Given the description of an element on the screen output the (x, y) to click on. 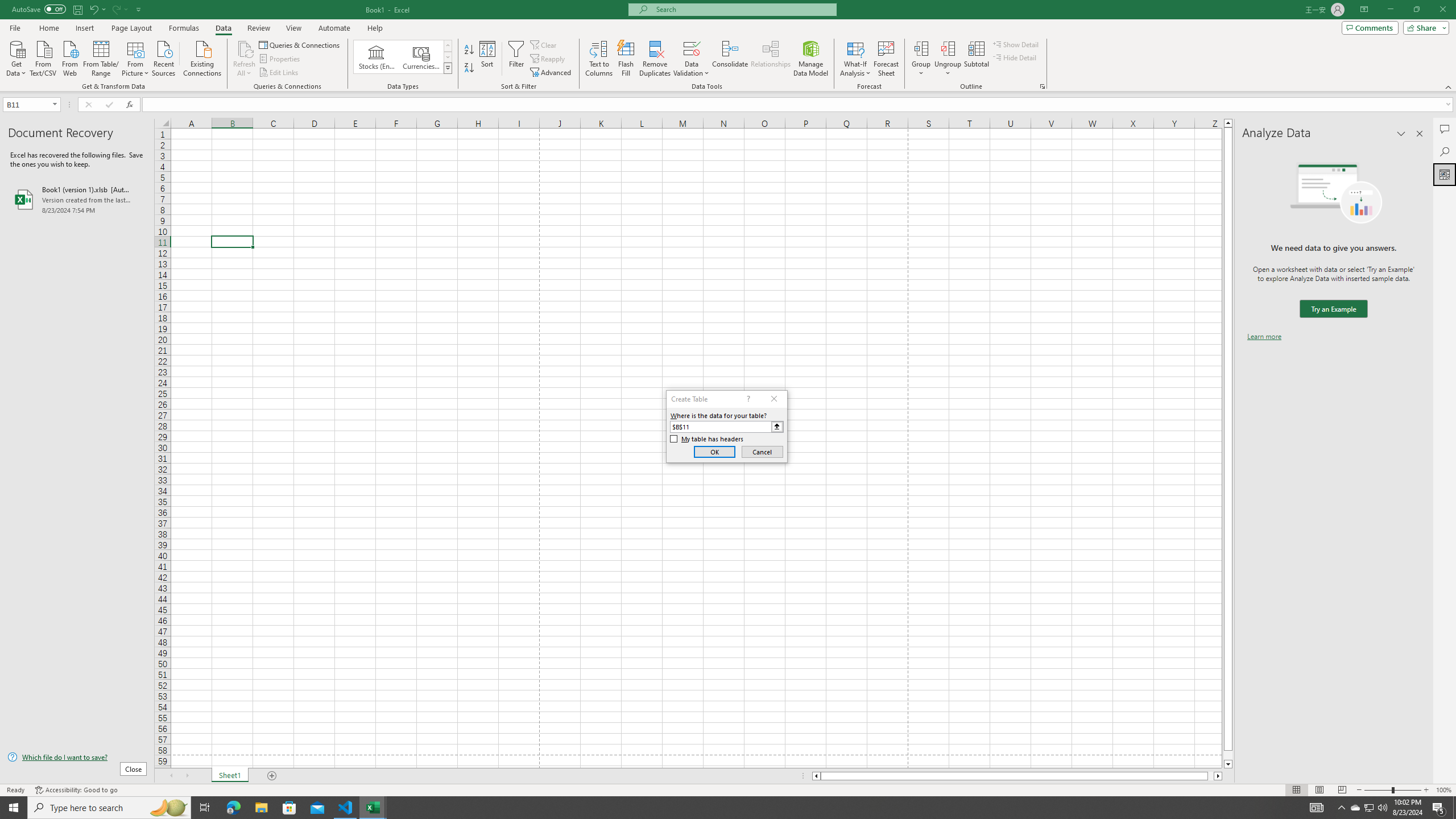
Book1 (version 1).xlsb  [AutoRecovered] (77, 199)
Task Pane Options (1400, 133)
Sort A to Z (469, 49)
Row up (448, 45)
Recent Sources (163, 57)
Filter (515, 58)
Existing Connections (202, 57)
